Given the description of an element on the screen output the (x, y) to click on. 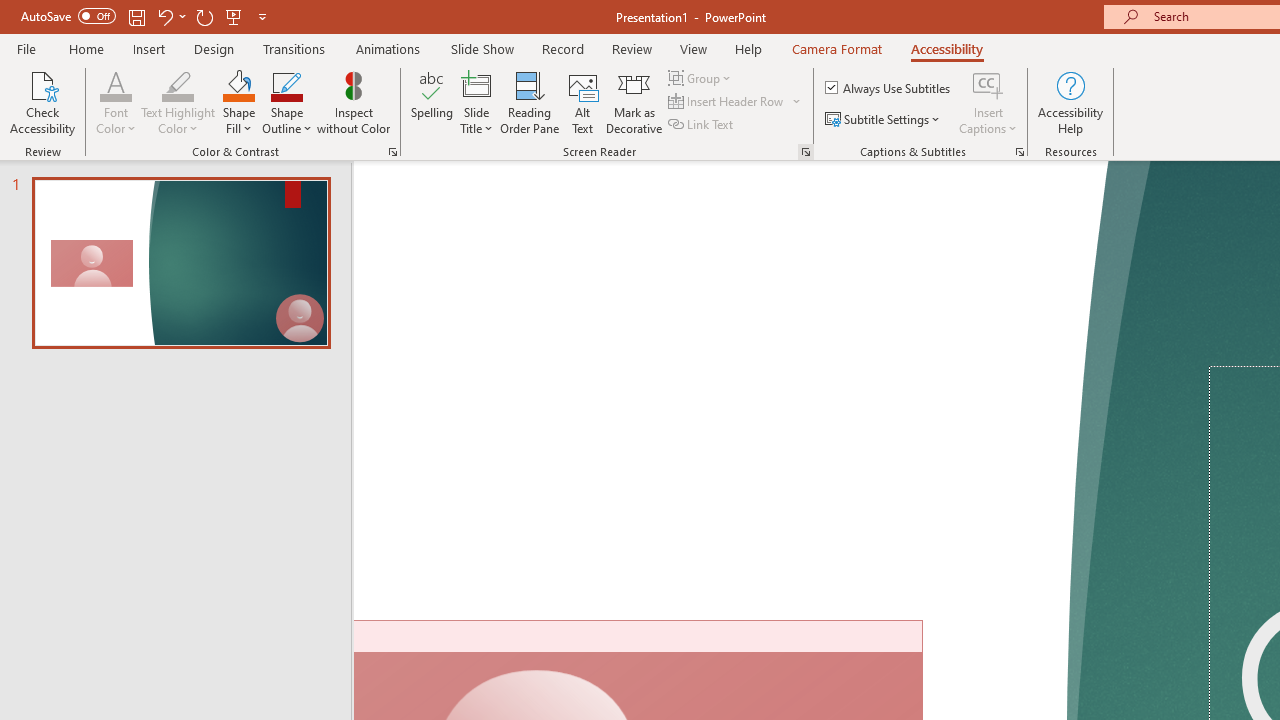
Slide Title (476, 102)
Always Use Subtitles (889, 87)
Color & Contrast (392, 151)
Insert Captions (988, 102)
Inspect without Color (353, 102)
